Given the description of an element on the screen output the (x, y) to click on. 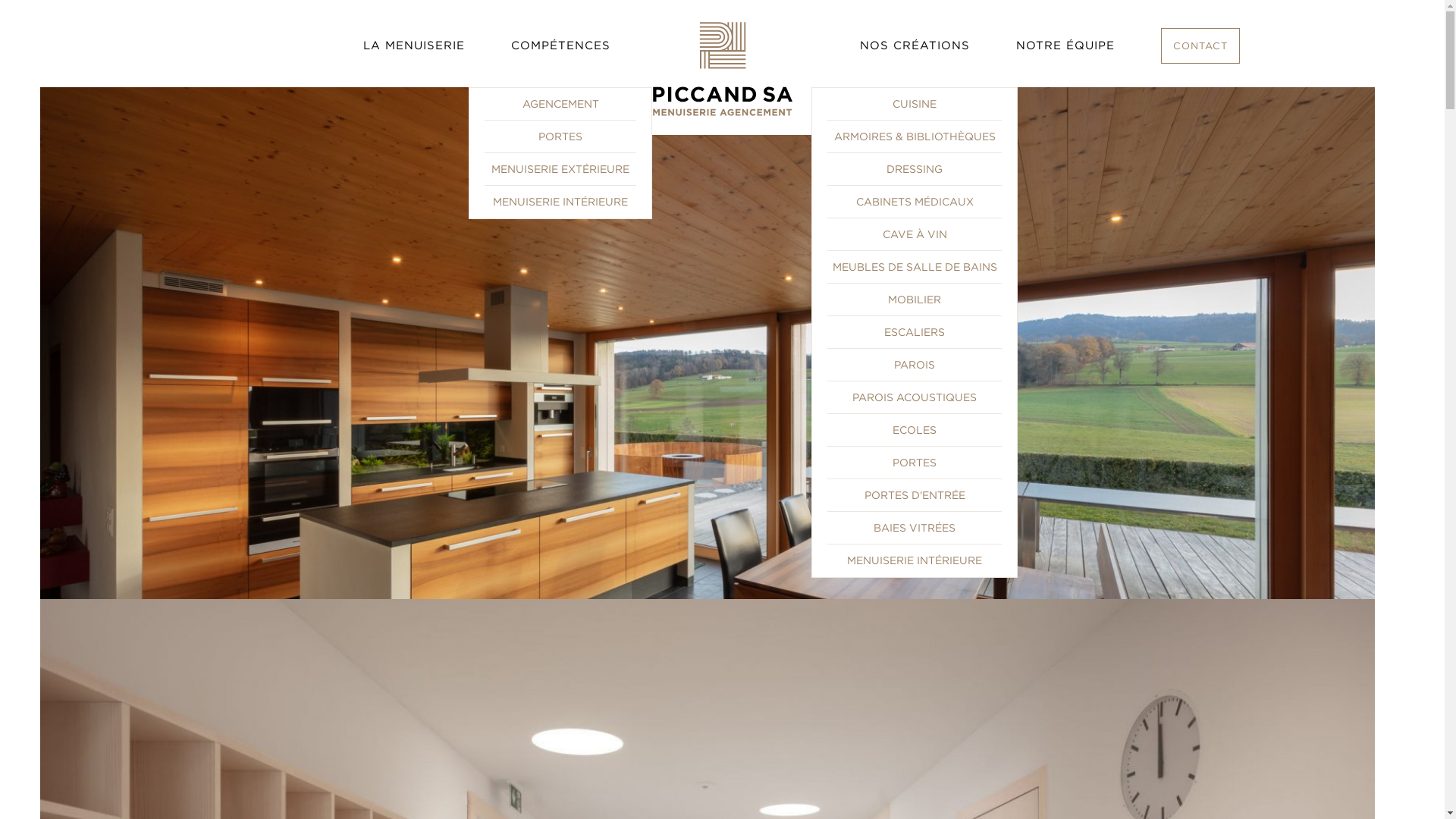
PAROIS ACOUSTIQUES Element type: text (914, 397)
ESCALIERS Element type: text (914, 331)
AGENCEMENT Element type: text (560, 103)
menuiserie-piccand.ch Element type: text (721, 68)
PORTES Element type: text (914, 462)
LA MENUISERIE Element type: text (413, 43)
DRESSING Element type: text (914, 168)
CUISINE Element type: text (914, 103)
MOBILIER Element type: text (914, 299)
MEUBLES DE SALLE DE BAINS Element type: text (914, 266)
PAROIS Element type: text (914, 364)
PORTES Element type: text (560, 136)
ECOLES Element type: text (914, 429)
CONTACT Element type: text (1199, 45)
